Given the description of an element on the screen output the (x, y) to click on. 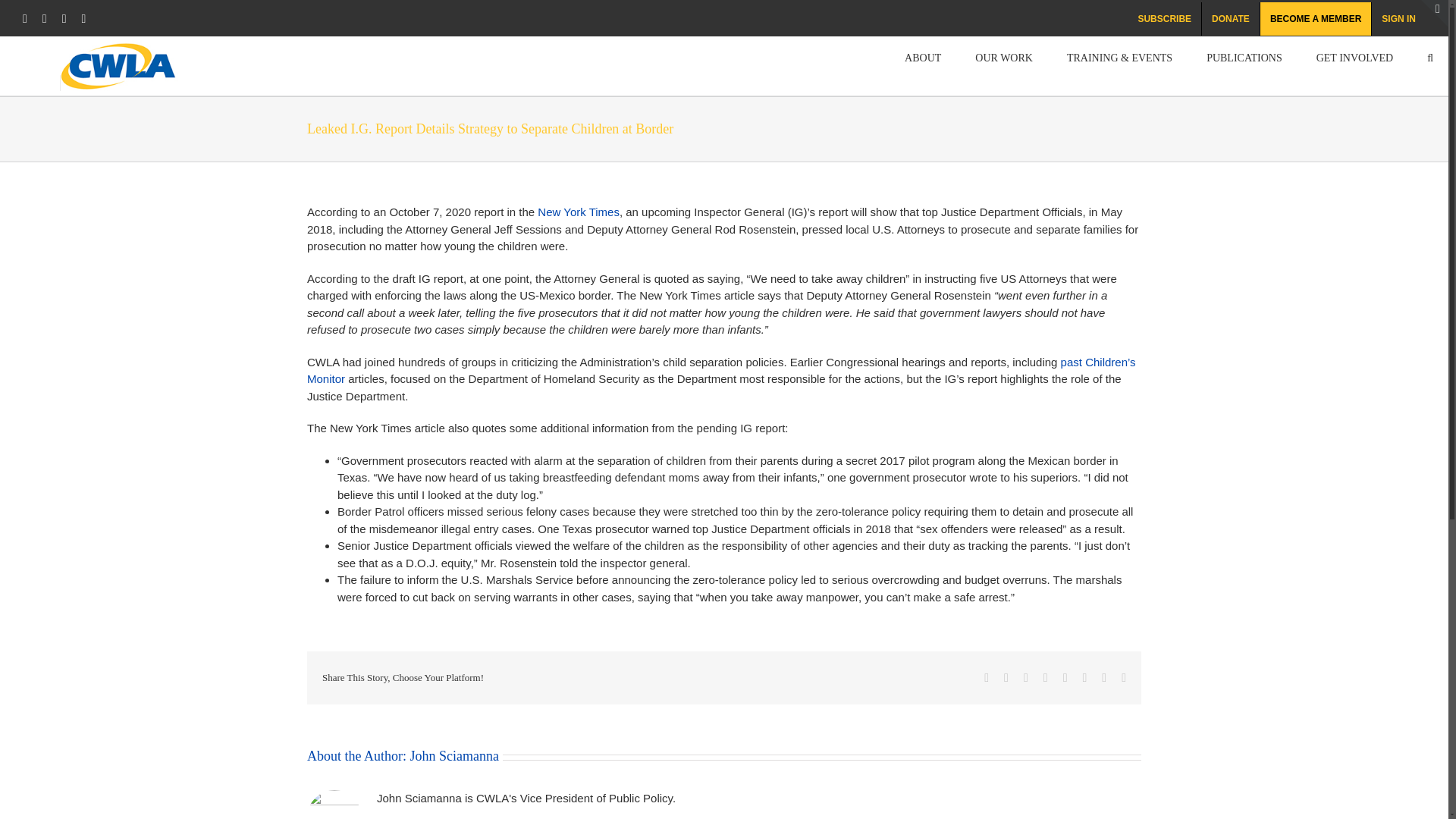
PUBLICATIONS (1244, 56)
SUBSCRIBE (1163, 19)
OUR WORK (1003, 56)
SIGN IN (1398, 19)
GET INVOLVED (1354, 56)
BECOME A MEMBER (1315, 19)
Posts by John Sciamanna (453, 755)
DONATE (1230, 19)
ABOUT (922, 56)
